Given the description of an element on the screen output the (x, y) to click on. 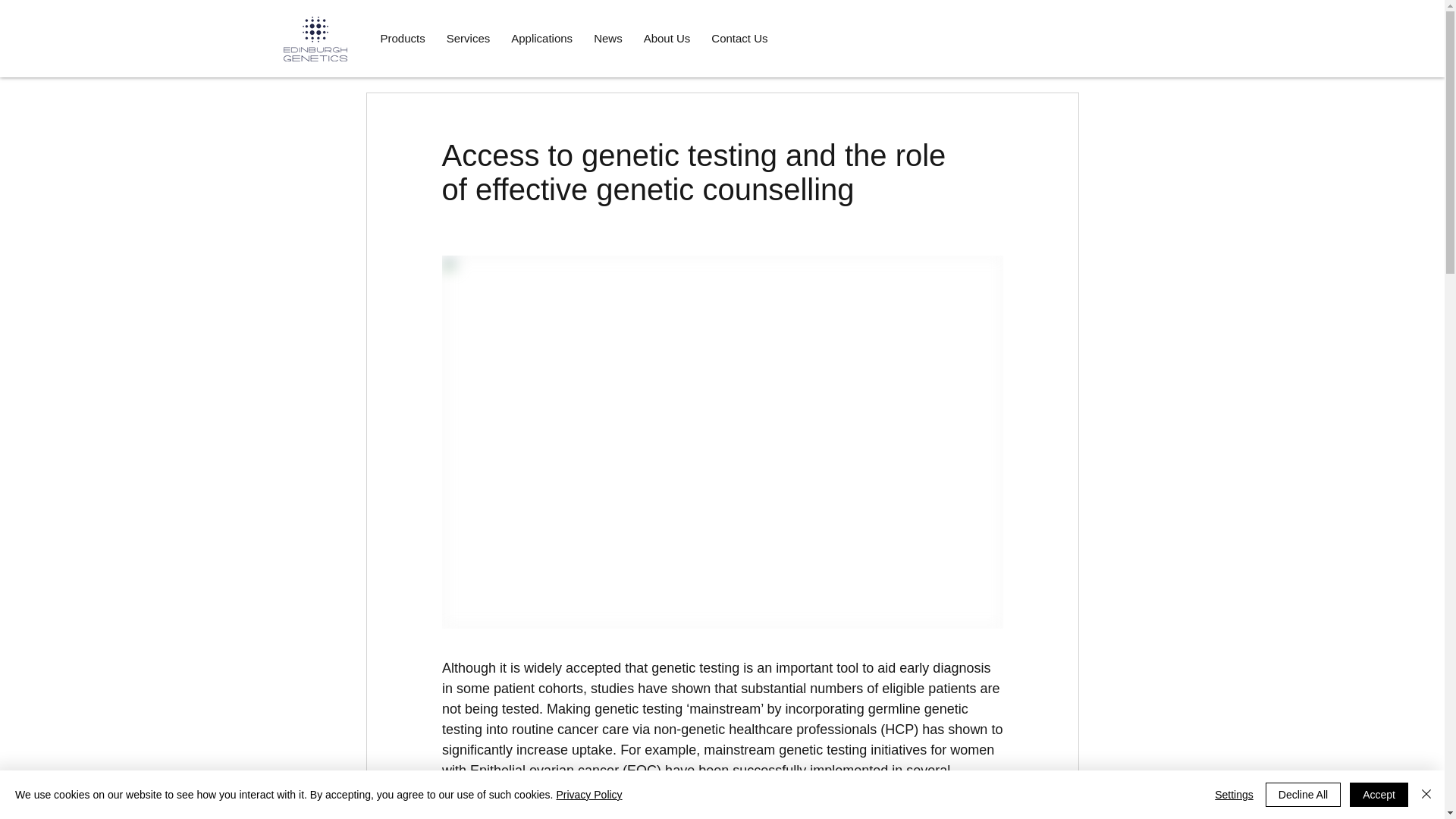
News (608, 38)
About Us (667, 38)
Applications (541, 38)
Contact Us (738, 38)
